Given the description of an element on the screen output the (x, y) to click on. 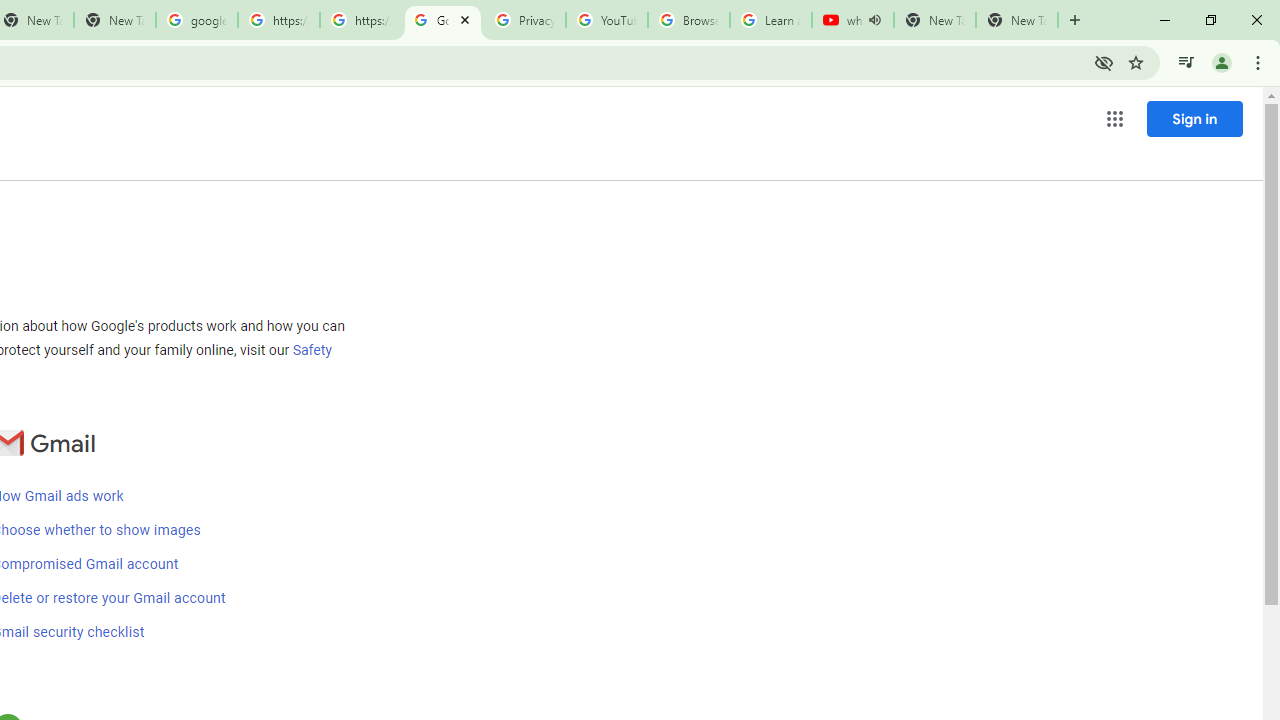
YouTube (606, 20)
Browse Chrome as a guest - Computer - Google Chrome Help (688, 20)
https://scholar.google.com/ (278, 20)
New Tab (1016, 20)
https://scholar.google.com/ (360, 20)
